Given the description of an element on the screen output the (x, y) to click on. 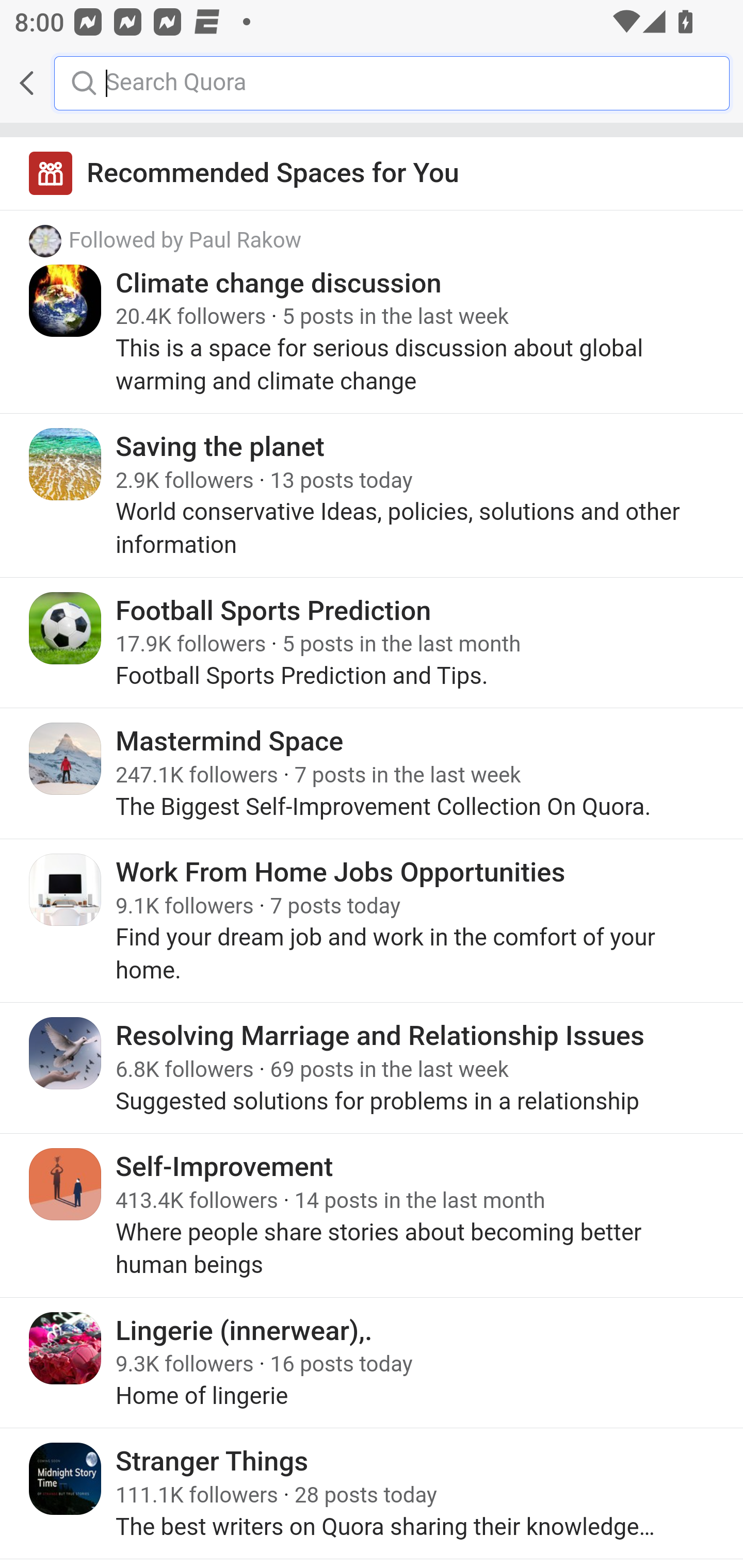
Me Home Search Add (371, 82)
Icon for Climate change discussion (65, 300)
Icon for Saving the planet (65, 464)
Icon for Football Sports Prediction (65, 627)
Icon for Mastermind Space (65, 759)
Icon for Work From Home Jobs Opportunities (65, 889)
Icon for Self-Improvement (65, 1184)
Icon for Lingerie (innerwear),. (65, 1347)
Icon for Stranger Things (65, 1479)
